Given the description of an element on the screen output the (x, y) to click on. 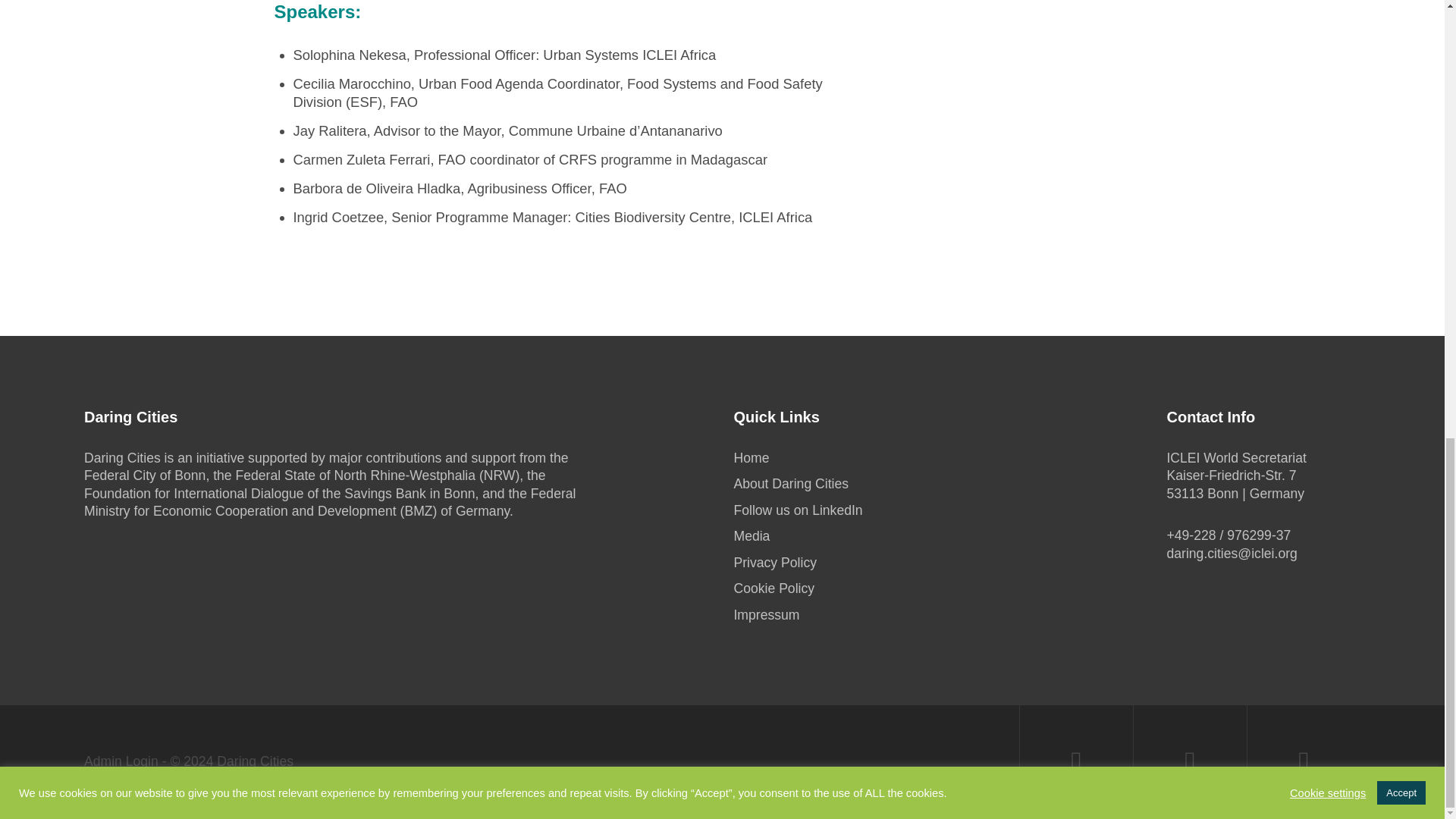
Follow us on LinkedIn (797, 509)
Home (750, 458)
About Daring Cities (790, 483)
